Given the description of an element on the screen output the (x, y) to click on. 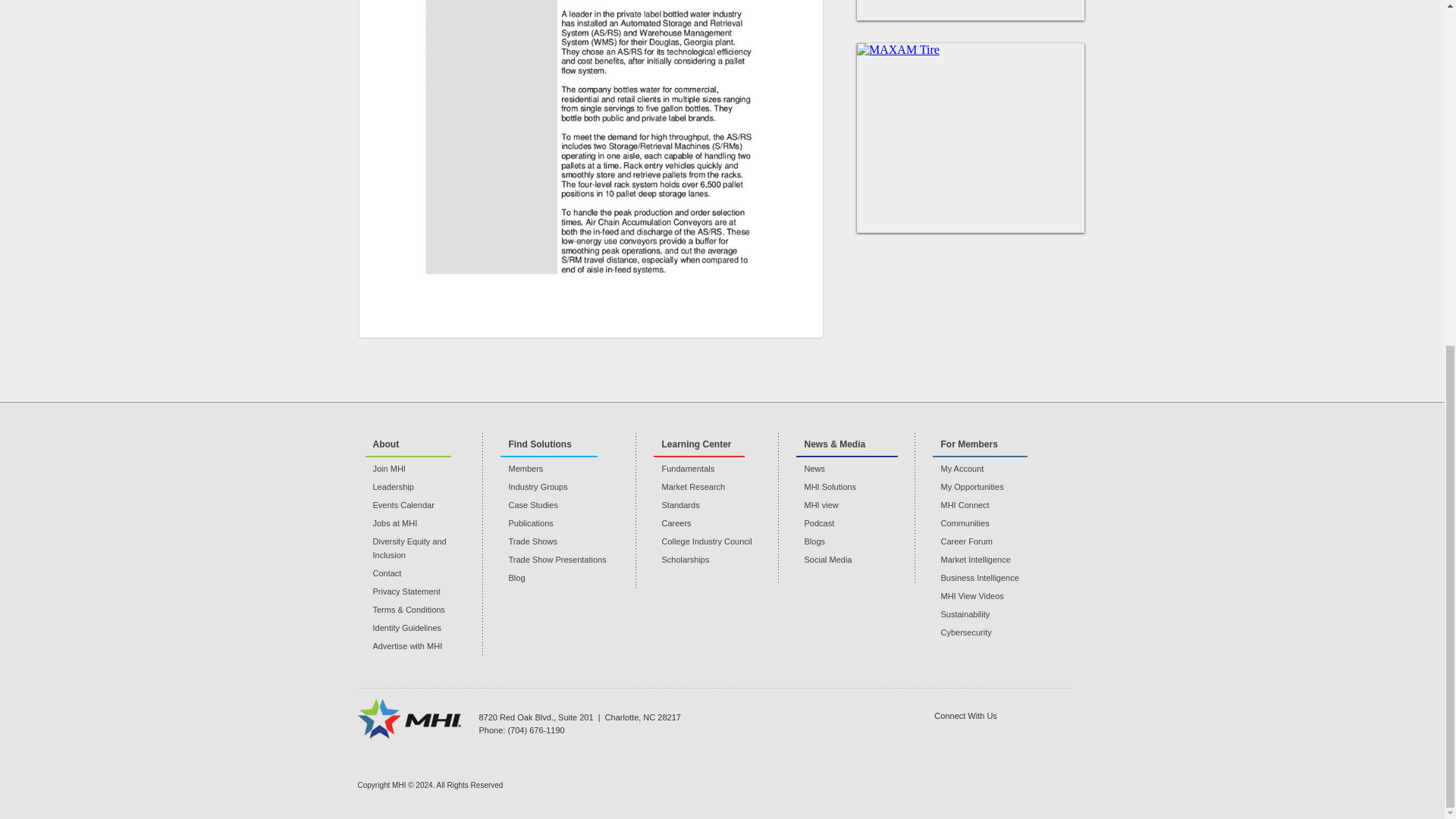
Contact (424, 572)
Diversity Equity and Inclusion (424, 547)
Scholarships (715, 559)
Fundamentals (715, 468)
About (408, 445)
Events Calendar (424, 504)
Follow MHI on Instagram (1076, 733)
Read Our Blog (1038, 733)
Advertise with MHI (424, 645)
News (855, 468)
